Given the description of an element on the screen output the (x, y) to click on. 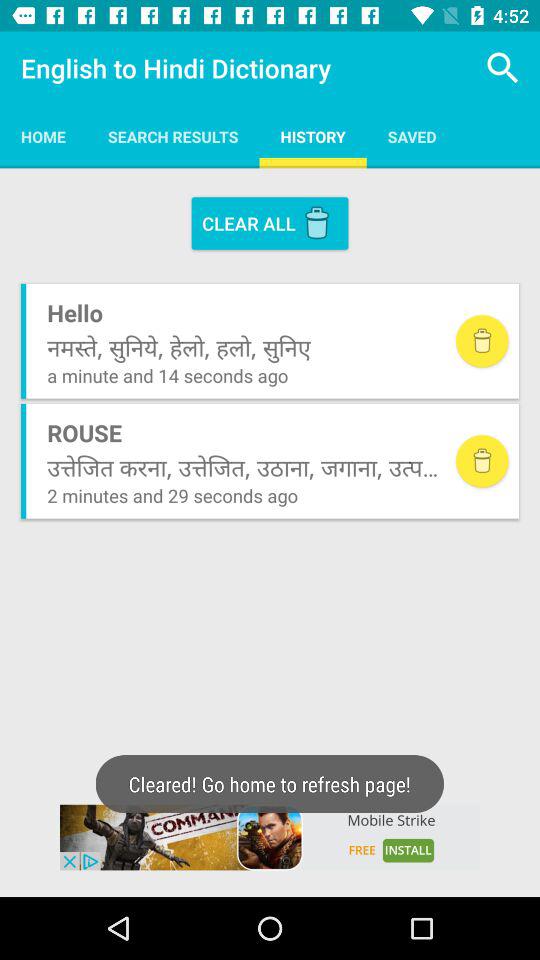
visit advertiser (270, 837)
